Given the description of an element on the screen output the (x, y) to click on. 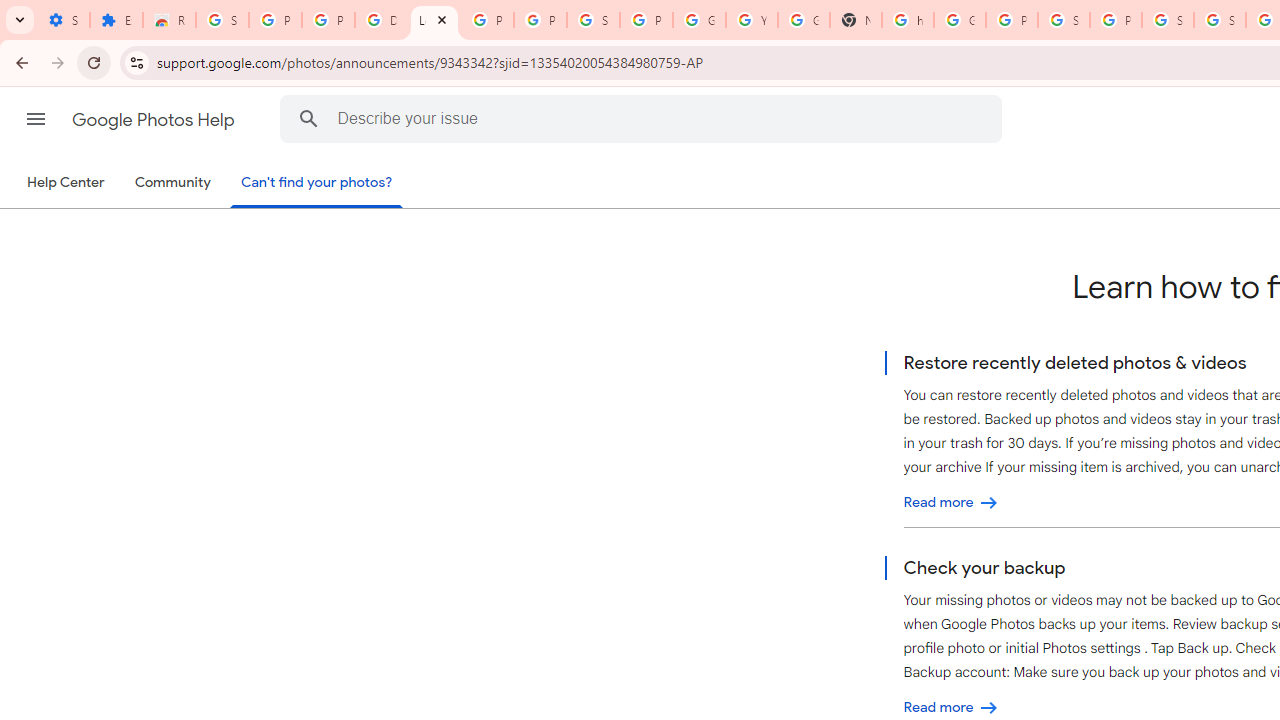
Describe your issue (644, 118)
Restore recently deleted photos & videos (951, 502)
Learn how to find your photos - Google Photos Help (434, 20)
New Tab (855, 20)
https://scholar.google.com/ (907, 20)
